Given the description of an element on the screen output the (x, y) to click on. 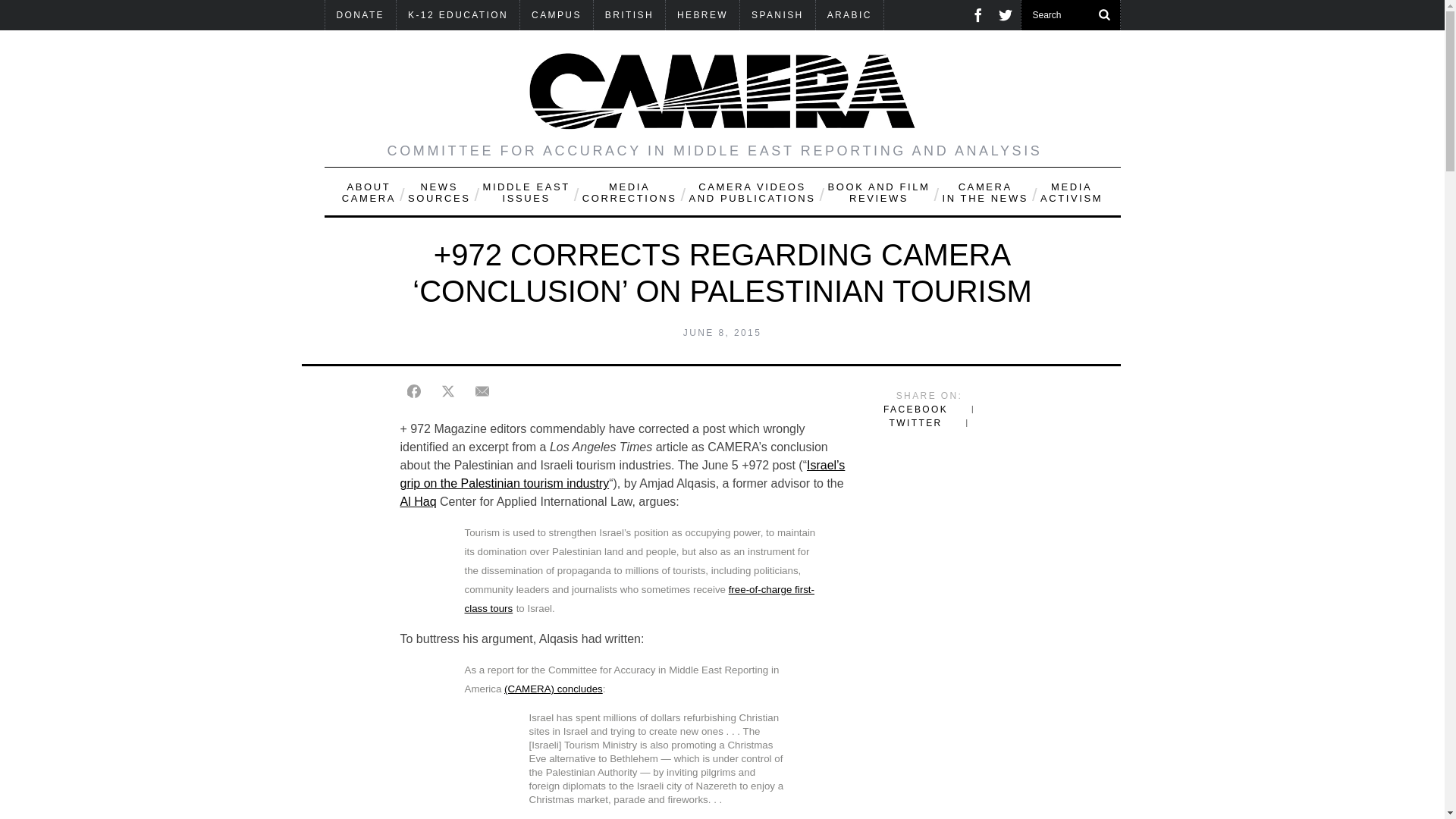
Book and Film Reviews (878, 191)
Share on Twitter (447, 390)
Share on Facebook (414, 390)
Share on E-mail (482, 390)
Search (1070, 15)
